Given the description of an element on the screen output the (x, y) to click on. 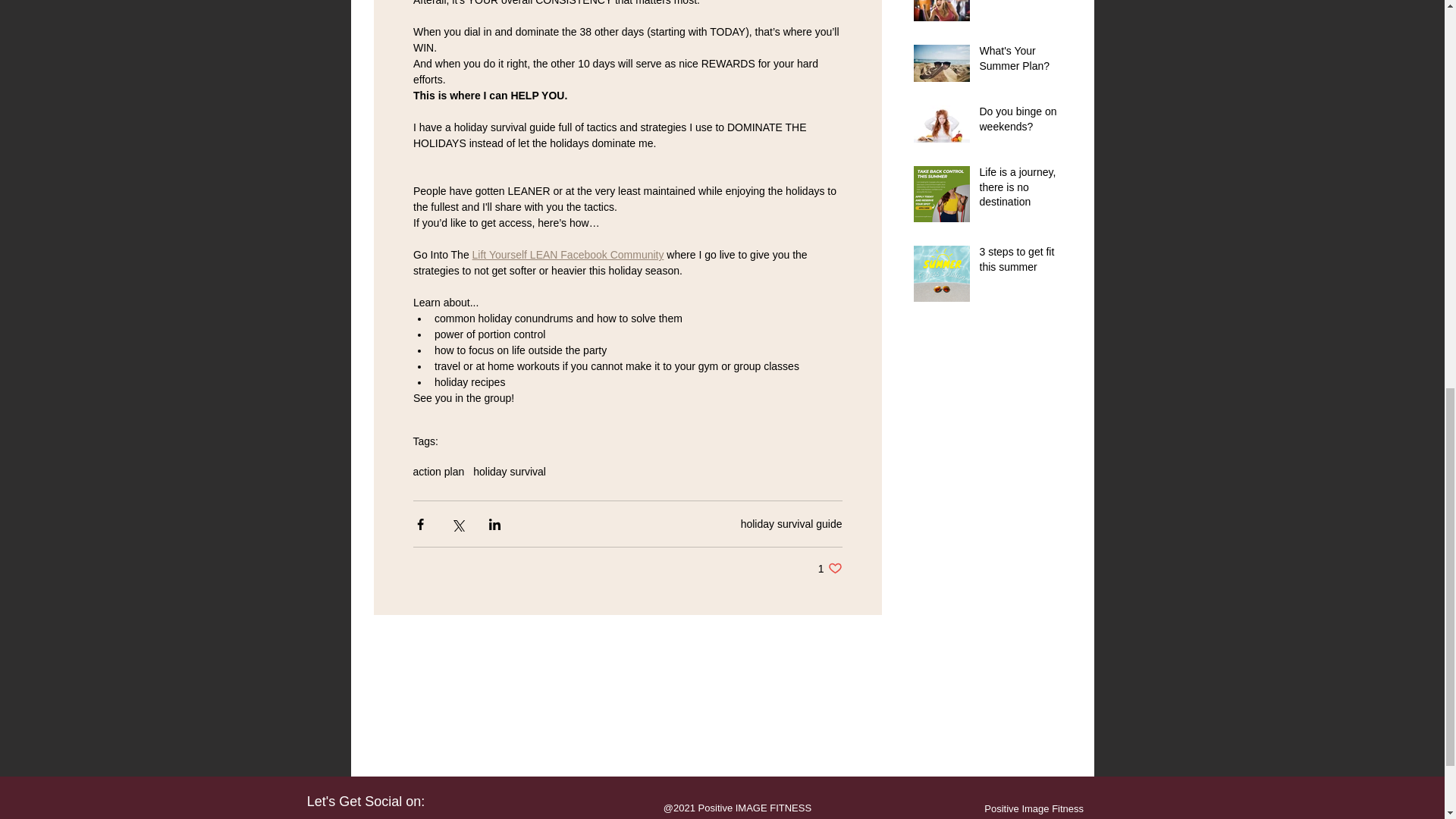
action plan (830, 568)
Lift Yourself LEAN Facebook Community (438, 471)
holiday survival guide (567, 254)
holiday survival (792, 522)
3 steps to get fit this summer (509, 471)
WIN THE DAY (1020, 262)
What's Your Summer Plan? (1020, 2)
Do you binge on weekends? (1020, 61)
Life is a journey, there is no destination (1020, 122)
